Given the description of an element on the screen output the (x, y) to click on. 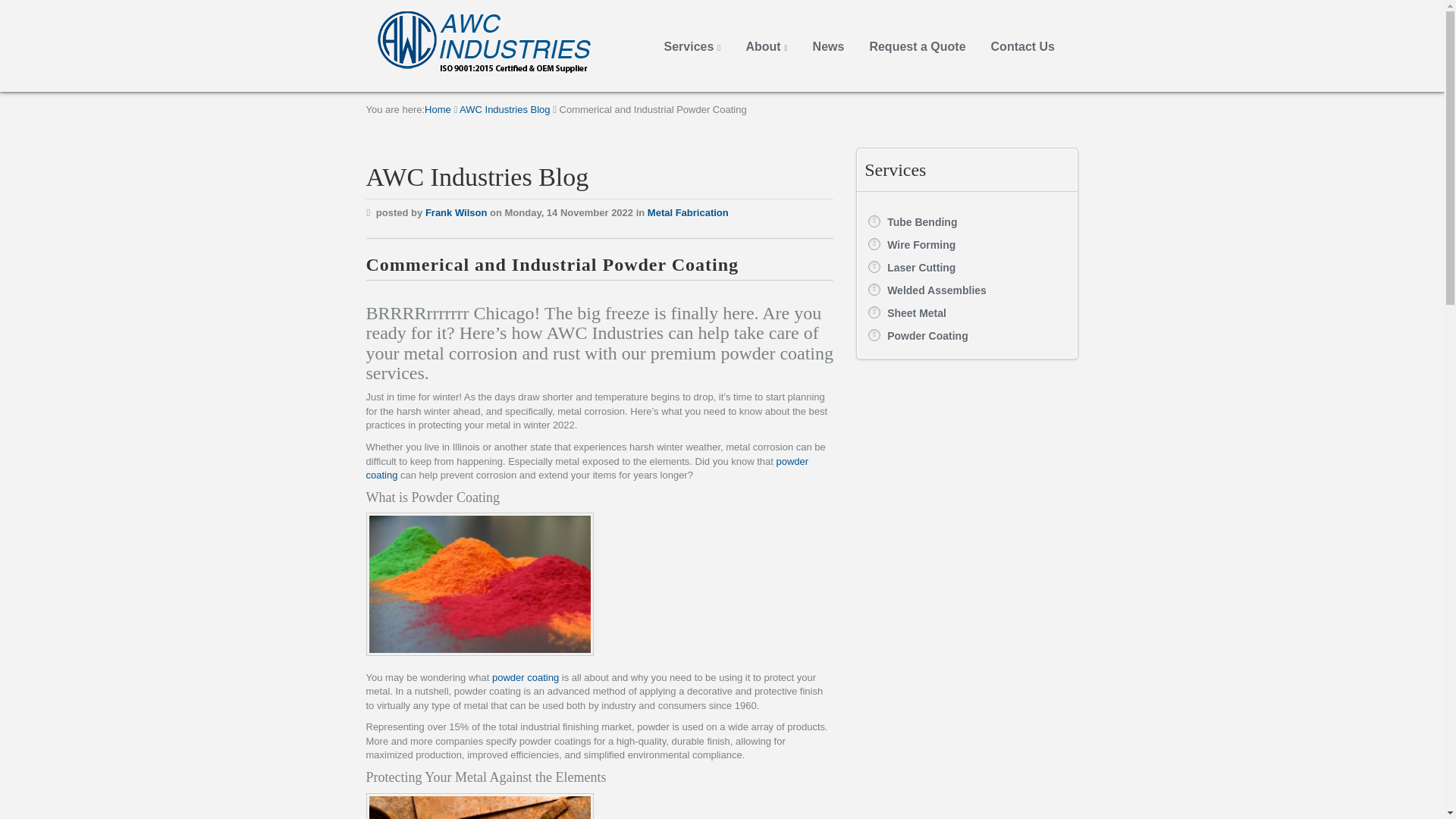
Metal Fabrication (688, 212)
About (766, 47)
Contact Us (1022, 47)
Frank Wilson (457, 212)
AWC Industries (507, 43)
powder coating (525, 677)
News (829, 47)
Home (438, 109)
Request a Quote (917, 47)
powder coating (586, 468)
